Given the description of an element on the screen output the (x, y) to click on. 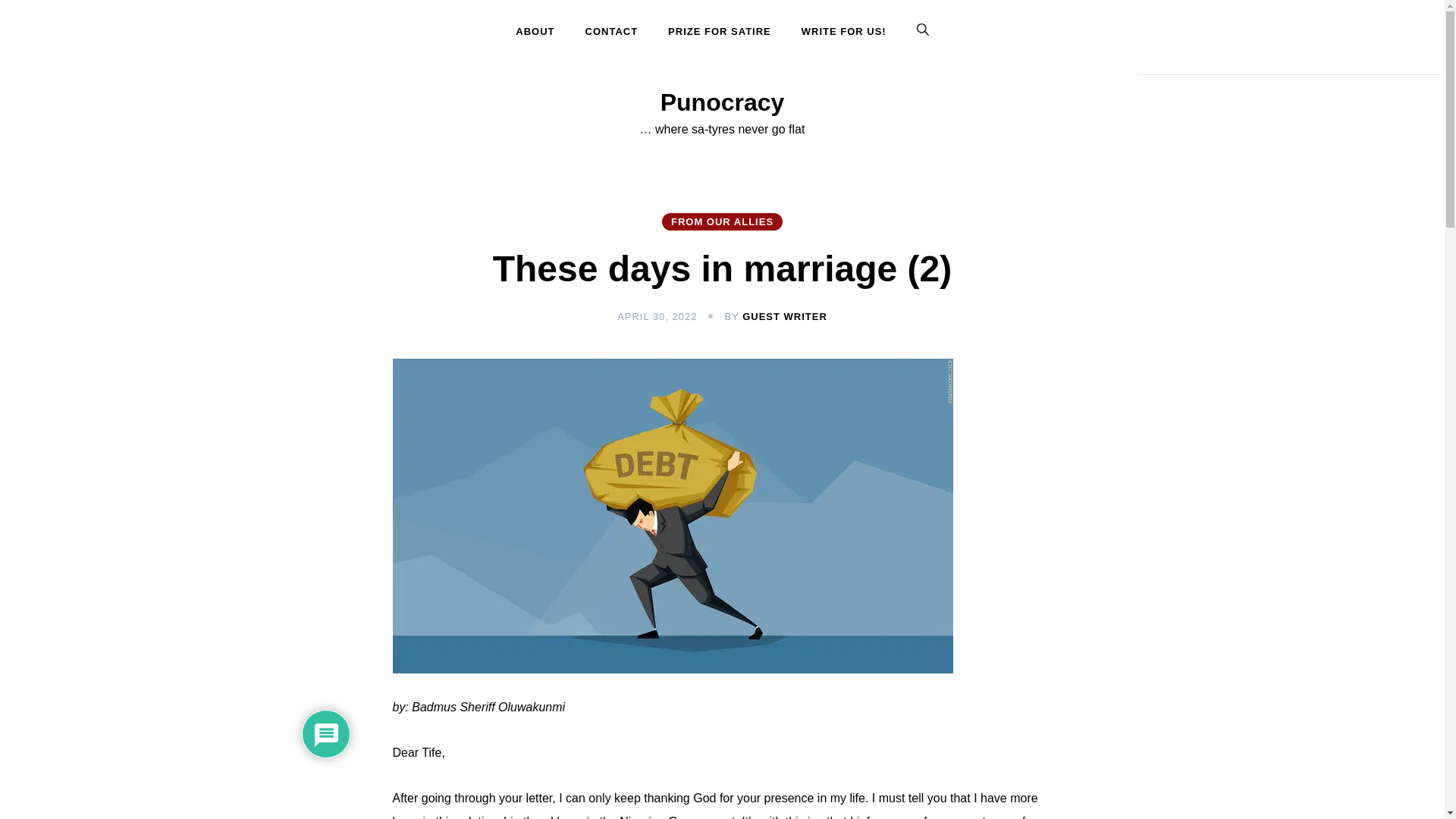
Punocracy (722, 102)
WRITE FOR US! (843, 32)
CONTACT (611, 32)
APRIL 30, 2022 (657, 316)
FROM OUR ALLIES (722, 221)
ABOUT (542, 32)
GUEST WRITER (784, 316)
PRIZE FOR SATIRE (719, 32)
